Given the description of an element on the screen output the (x, y) to click on. 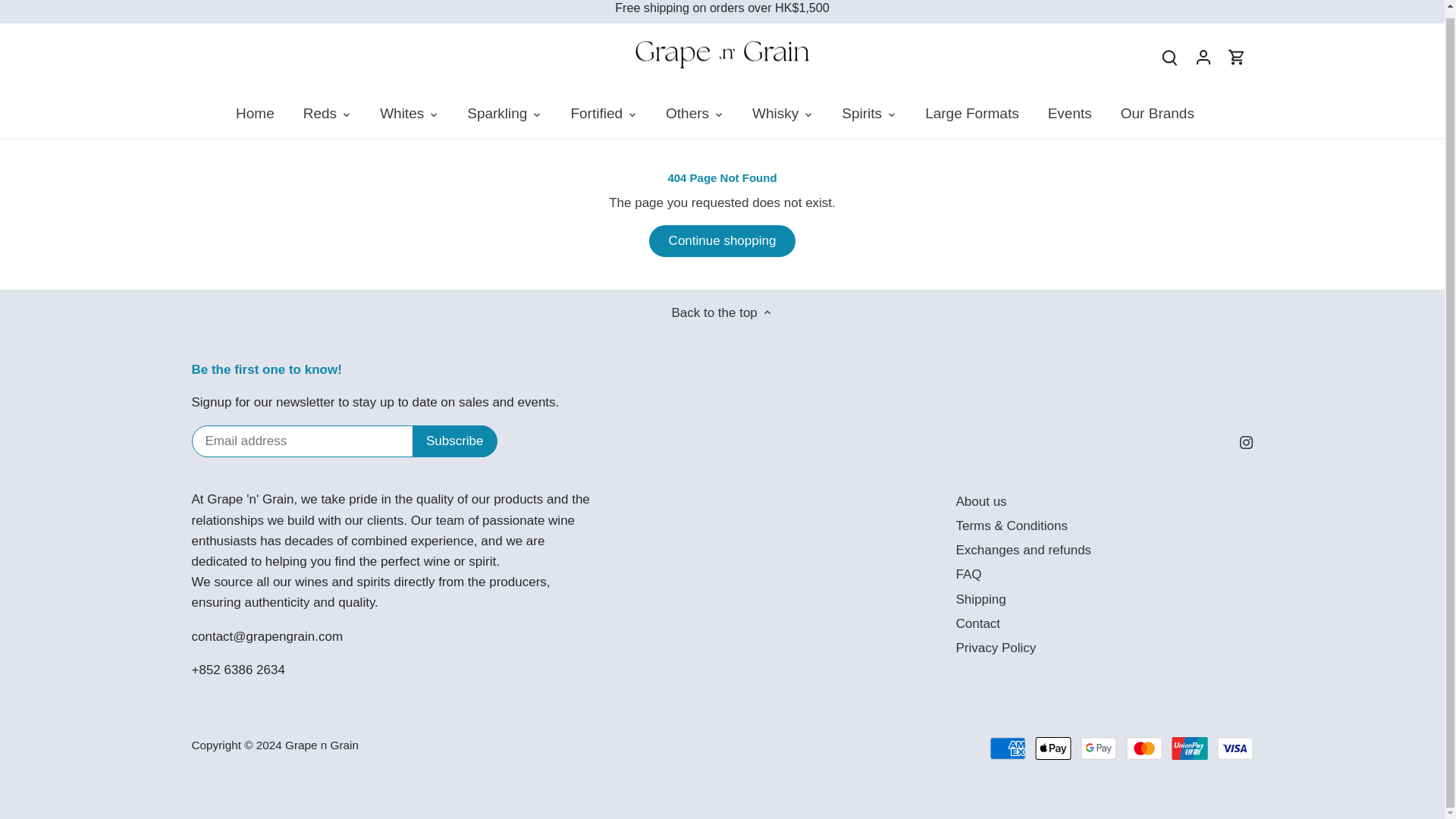
Mastercard (1143, 748)
Subscribe (454, 441)
Google Pay (1098, 748)
Reds (319, 114)
Visa (1233, 748)
Union Pay (1190, 748)
Instagram (1246, 441)
Home (261, 114)
American Express (1008, 748)
Apple Pay (1053, 748)
